Given the description of an element on the screen output the (x, y) to click on. 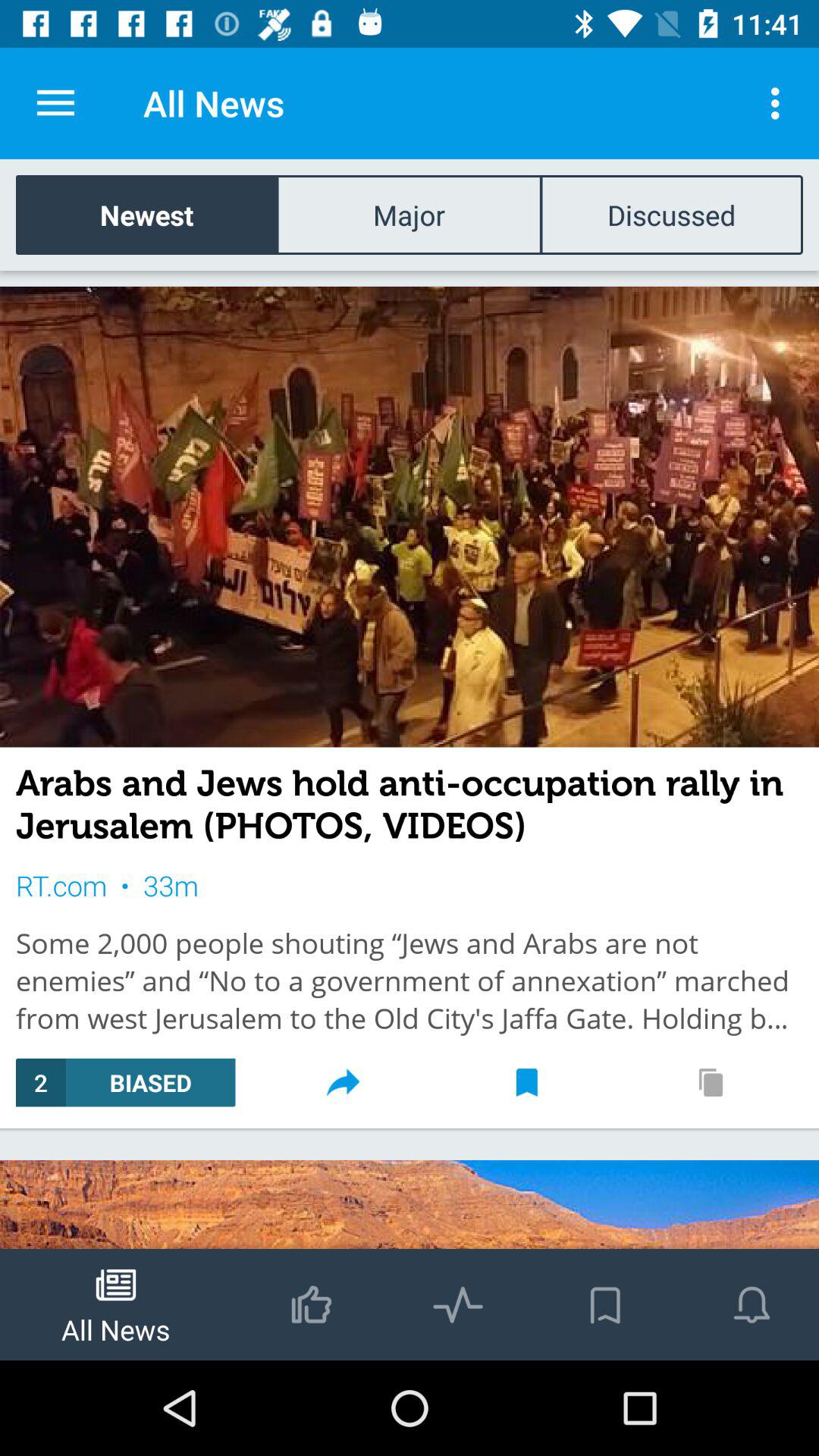
open icon above the discussed item (779, 103)
